Given the description of an element on the screen output the (x, y) to click on. 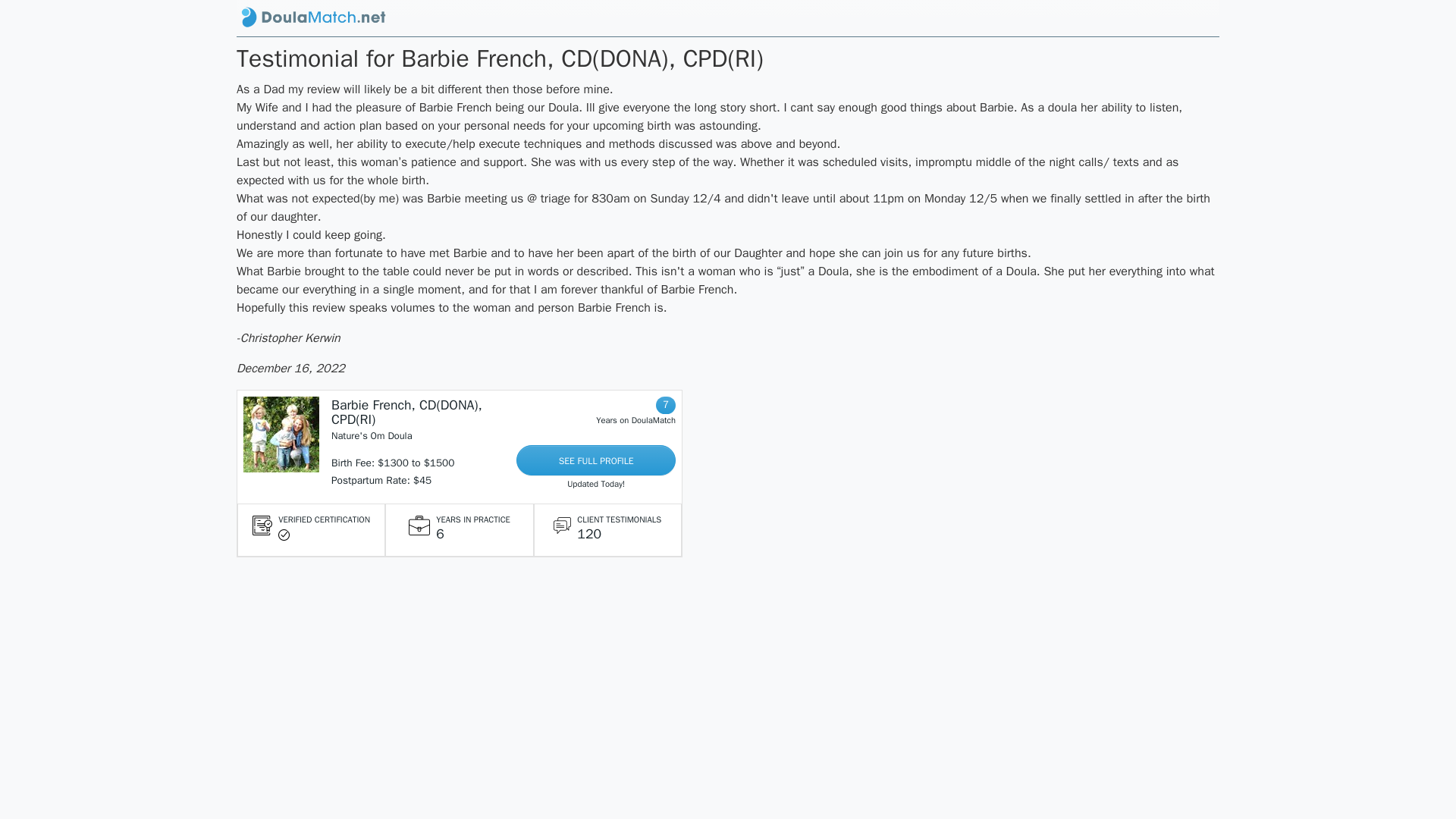
SEE FULL PROFILE (595, 460)
